Given the description of an element on the screen output the (x, y) to click on. 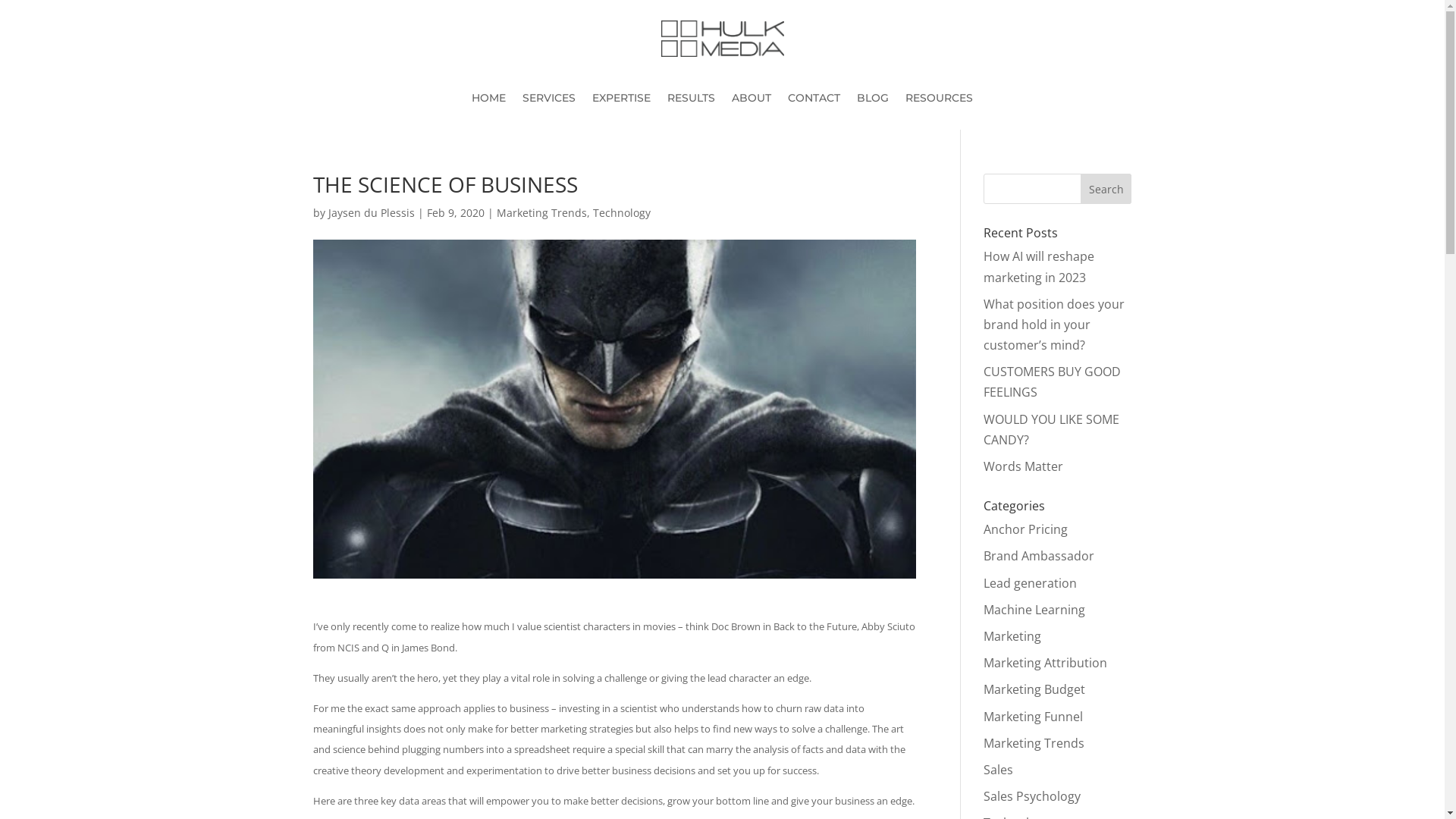
Marketing Funnel Element type: text (1032, 716)
logo Element type: hover (722, 38)
Marketing Trends Element type: text (1033, 742)
CUSTOMERS BUY GOOD FEELINGS Element type: text (1051, 381)
Marketing Element type: text (1012, 635)
Brand Ambassador Element type: text (1038, 555)
Marketing Trends Element type: text (540, 212)
Jaysen du Plessis Element type: text (370, 212)
WOULD YOU LIKE SOME CANDY? Element type: text (1051, 429)
How AI will reshape marketing in 2023 Element type: text (1038, 266)
CONTACT Element type: text (813, 100)
Machine Learning Element type: text (1034, 609)
RESULTS Element type: text (691, 100)
Sales Element type: text (998, 769)
Marketing Attribution Element type: text (1045, 662)
HOME Element type: text (488, 100)
Marketing Budget Element type: text (1034, 688)
SERVICES Element type: text (548, 100)
EXPERTISE Element type: text (621, 100)
BLOG Element type: text (872, 100)
Sales Psychology Element type: text (1031, 795)
Technology Element type: text (621, 212)
RESOURCES Element type: text (938, 100)
Words Matter Element type: text (1023, 466)
Search Element type: text (1106, 188)
Anchor Pricing Element type: text (1025, 528)
ABOUT Element type: text (751, 100)
Lead generation Element type: text (1029, 582)
